Given the description of an element on the screen output the (x, y) to click on. 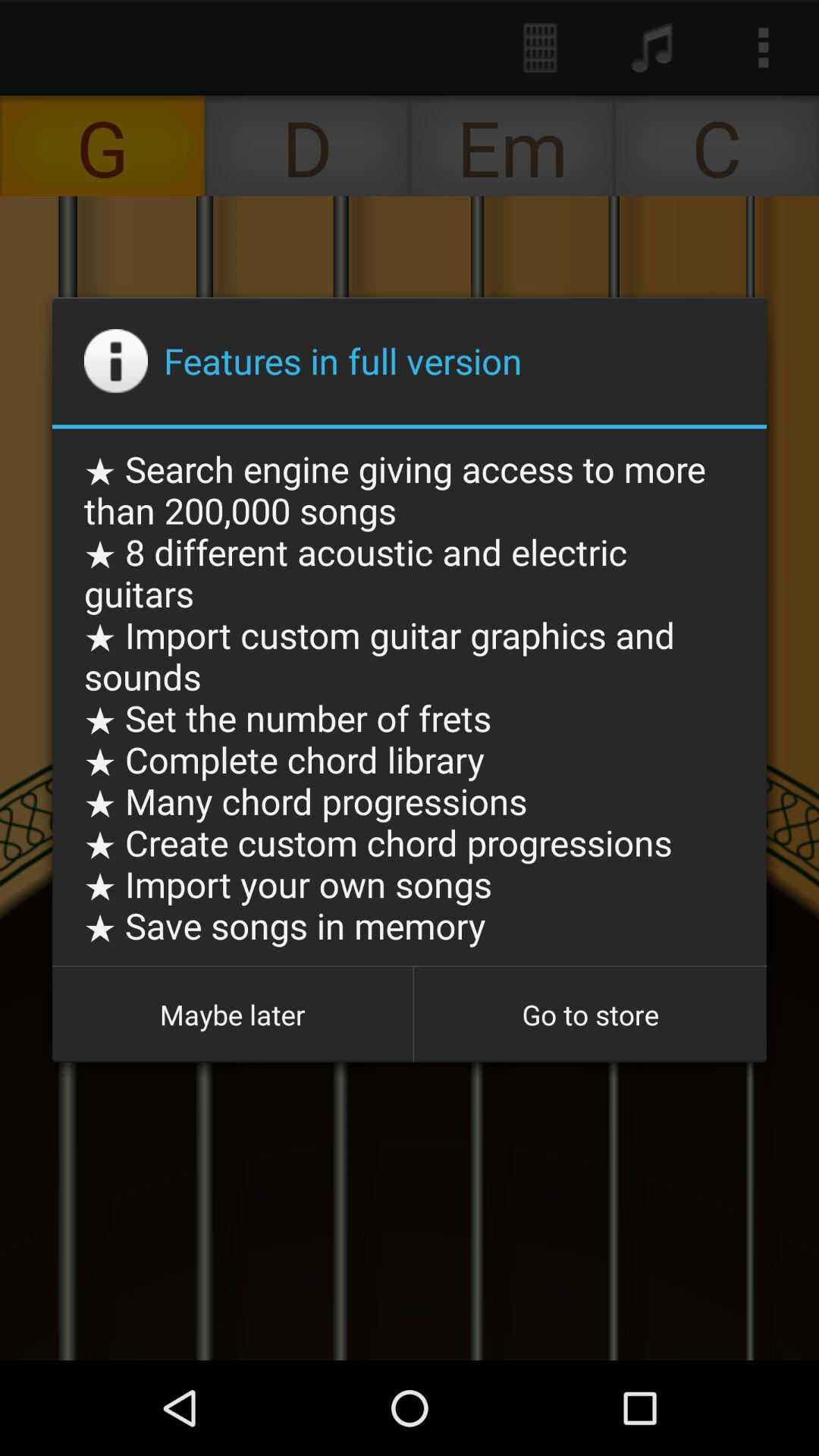
choose the app below search engine giving (232, 1014)
